Given the description of an element on the screen output the (x, y) to click on. 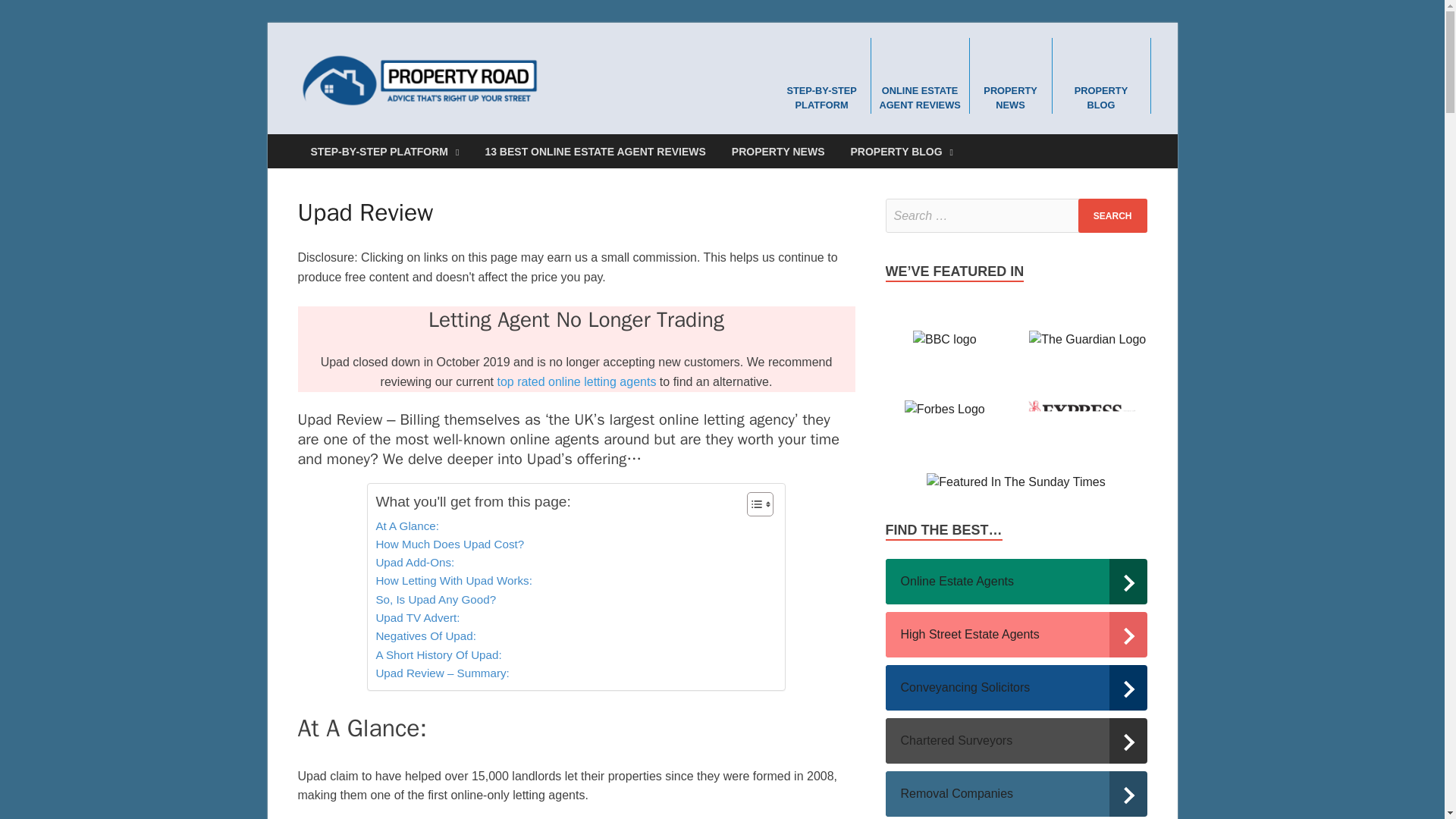
Upad Add-Ons: (414, 562)
Negatives Of Upad: (425, 636)
A Short History Of Upad: (437, 655)
How Letting With Upad Works: (453, 580)
ONLINE ESTATE AGENT REVIEWS (919, 74)
Upad TV Advert: (417, 618)
PROPERTY BLOG (1101, 74)
At A Glance: (407, 525)
STEP-BY-STEP PLATFORM (384, 151)
13 BEST ONLINE ESTATE AGENT REVIEWS (594, 151)
At A Glance: (407, 525)
How Letting With Upad Works: (453, 580)
STEP-BY-STEP PLATFORM (821, 74)
Property Road (645, 81)
PROPERTY NEWS (1010, 74)
